Given the description of an element on the screen output the (x, y) to click on. 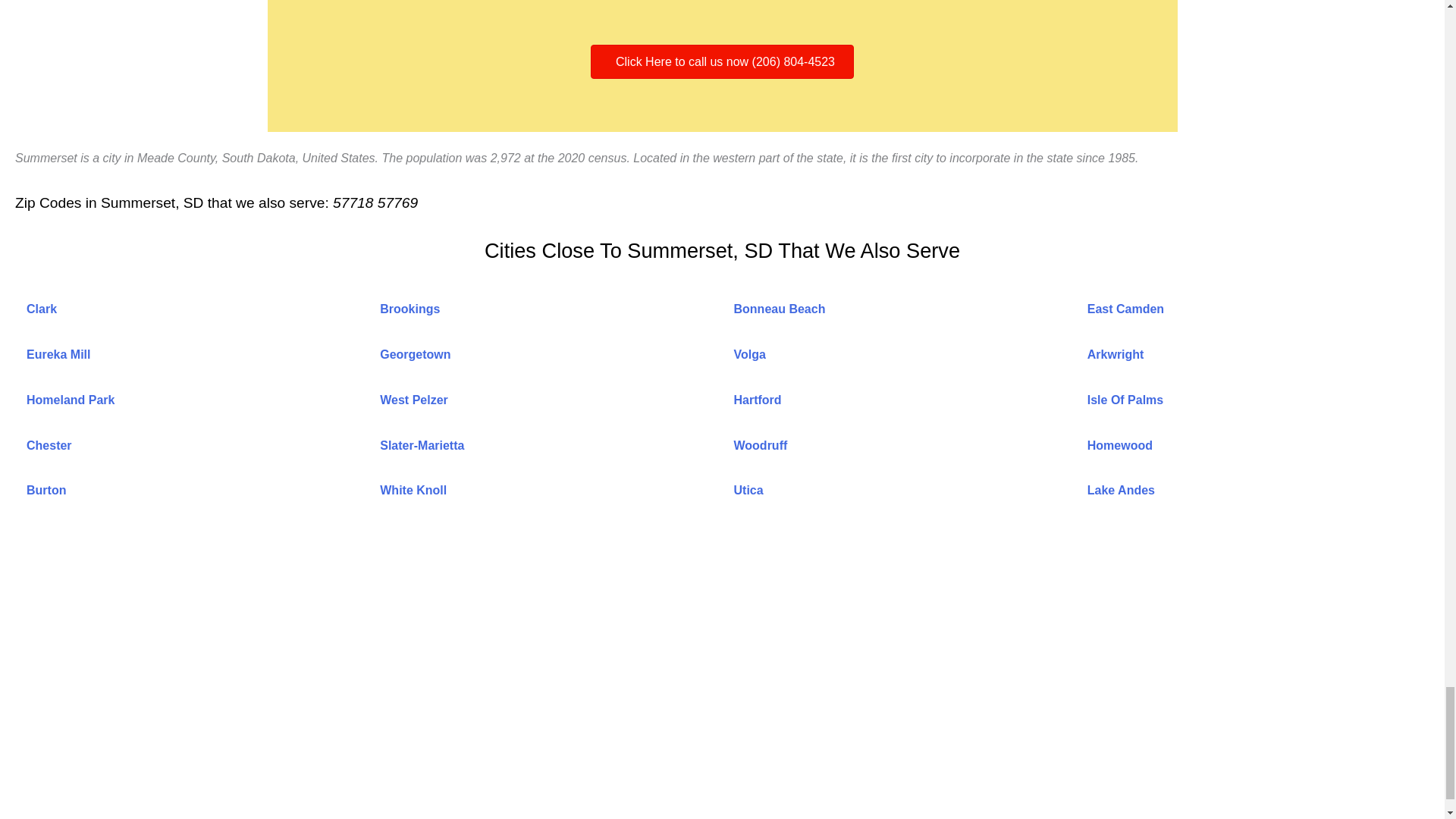
Arkwright (1115, 354)
Homeland Park (70, 399)
Clark (41, 308)
Brookings (409, 308)
Slater-Marietta (422, 444)
Volga (749, 354)
Isle Of Palms (1125, 399)
West Pelzer (414, 399)
Hartford (757, 399)
East Camden (1125, 308)
